Given the description of an element on the screen output the (x, y) to click on. 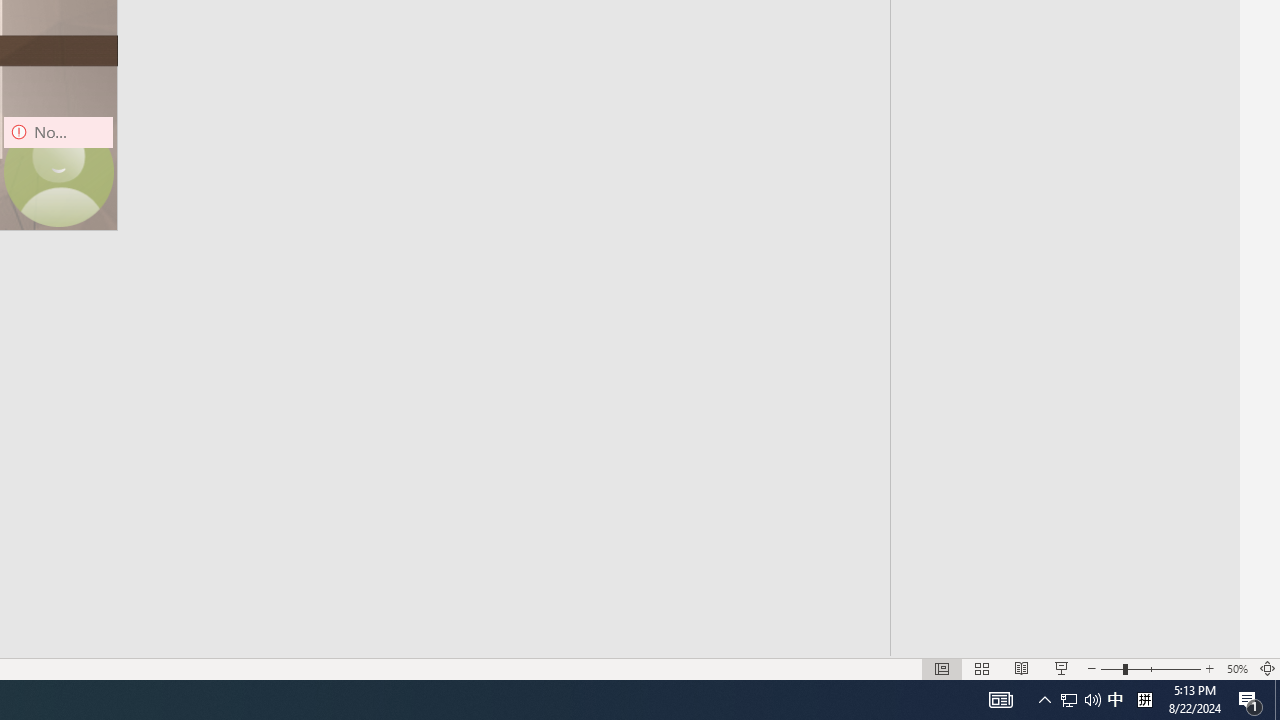
Zoom 50% (1236, 668)
Camera 9, No camera detected. (58, 171)
